Given the description of an element on the screen output the (x, y) to click on. 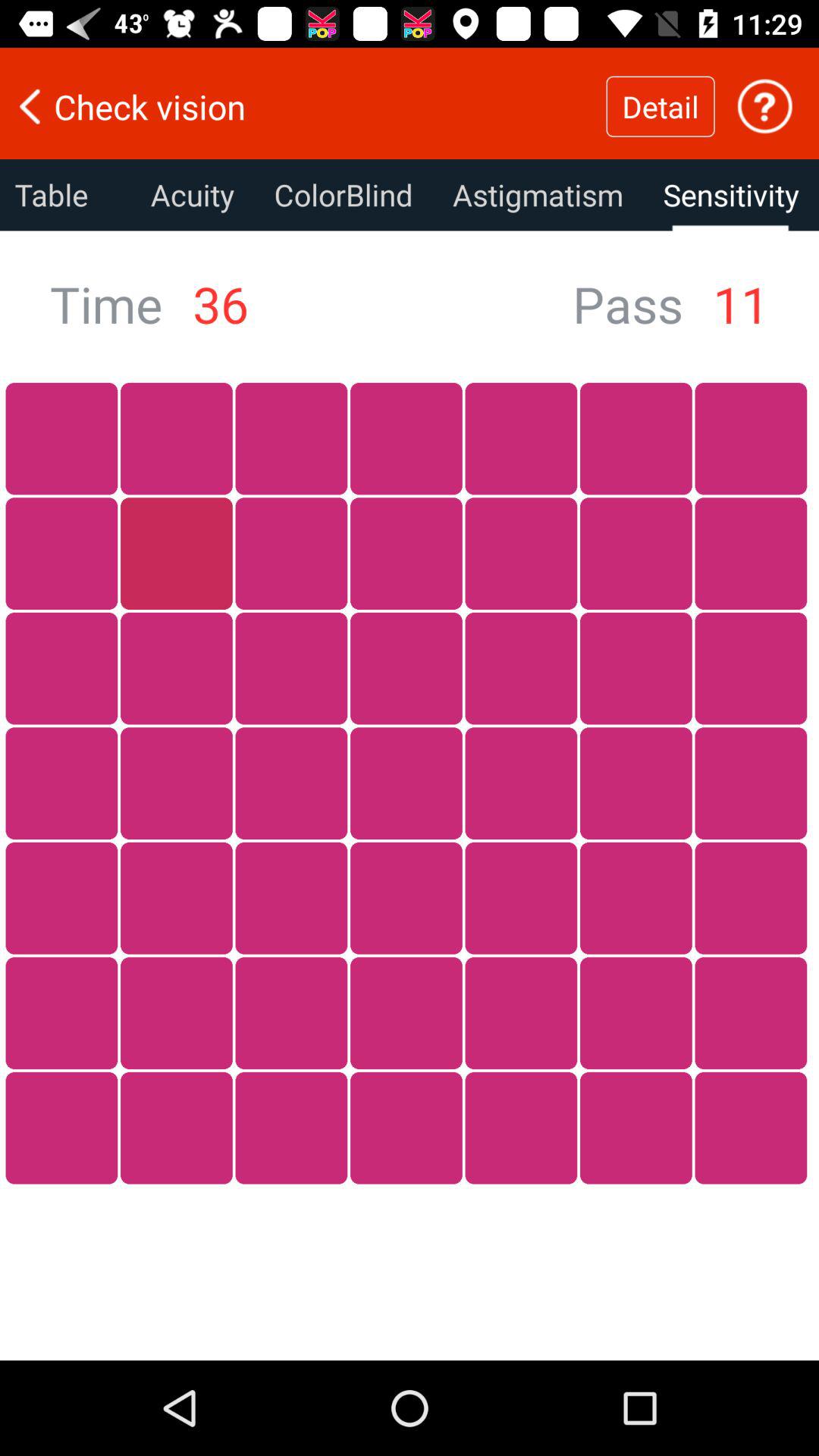
choose item next to the colorblind icon (537, 194)
